Given the description of an element on the screen output the (x, y) to click on. 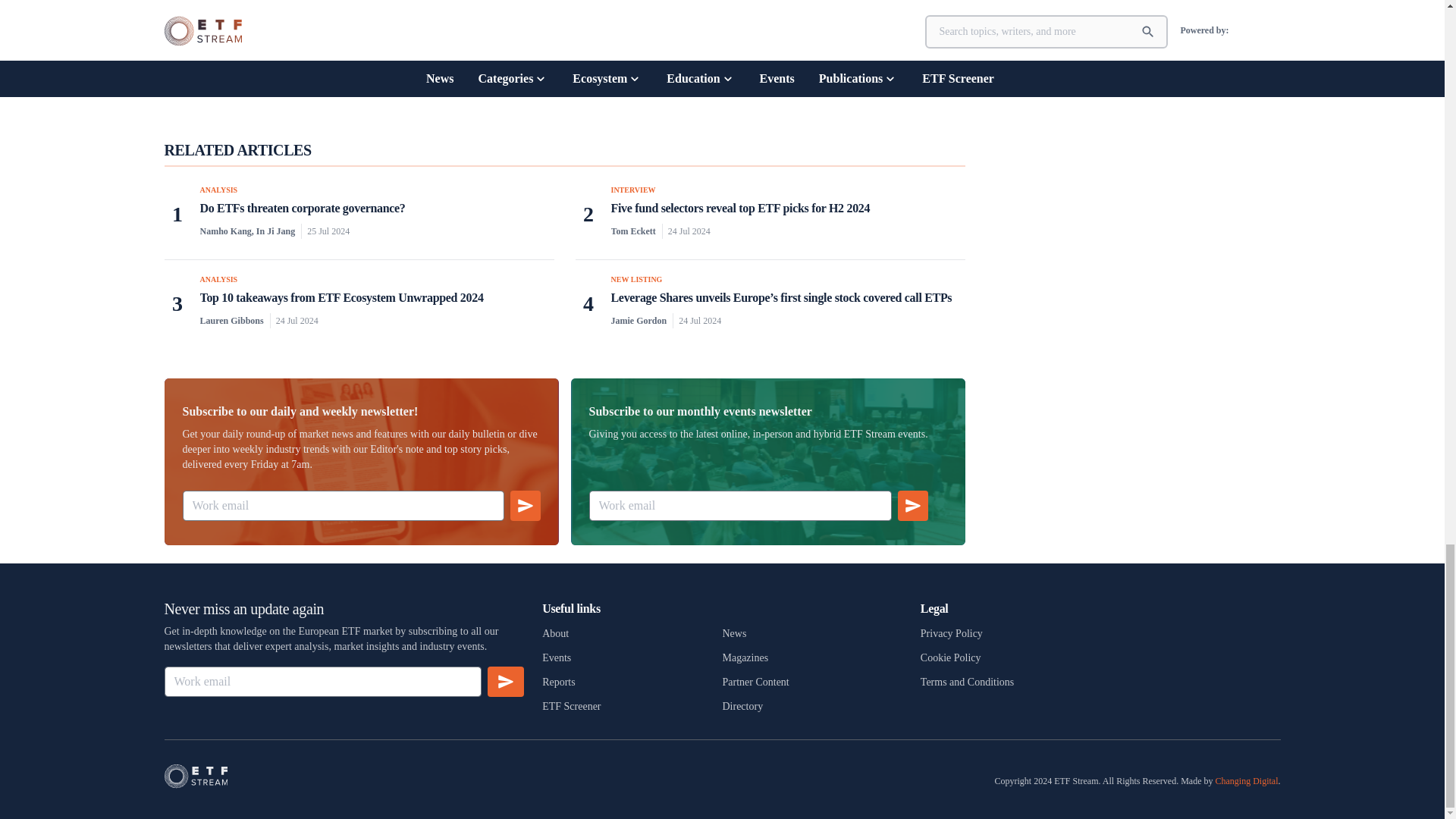
LEVERAGED (785, 75)
EUROPEAN ETFS (720, 75)
EQUITIES (596, 75)
ETF ISSUERS (651, 75)
